Given the description of an element on the screen output the (x, y) to click on. 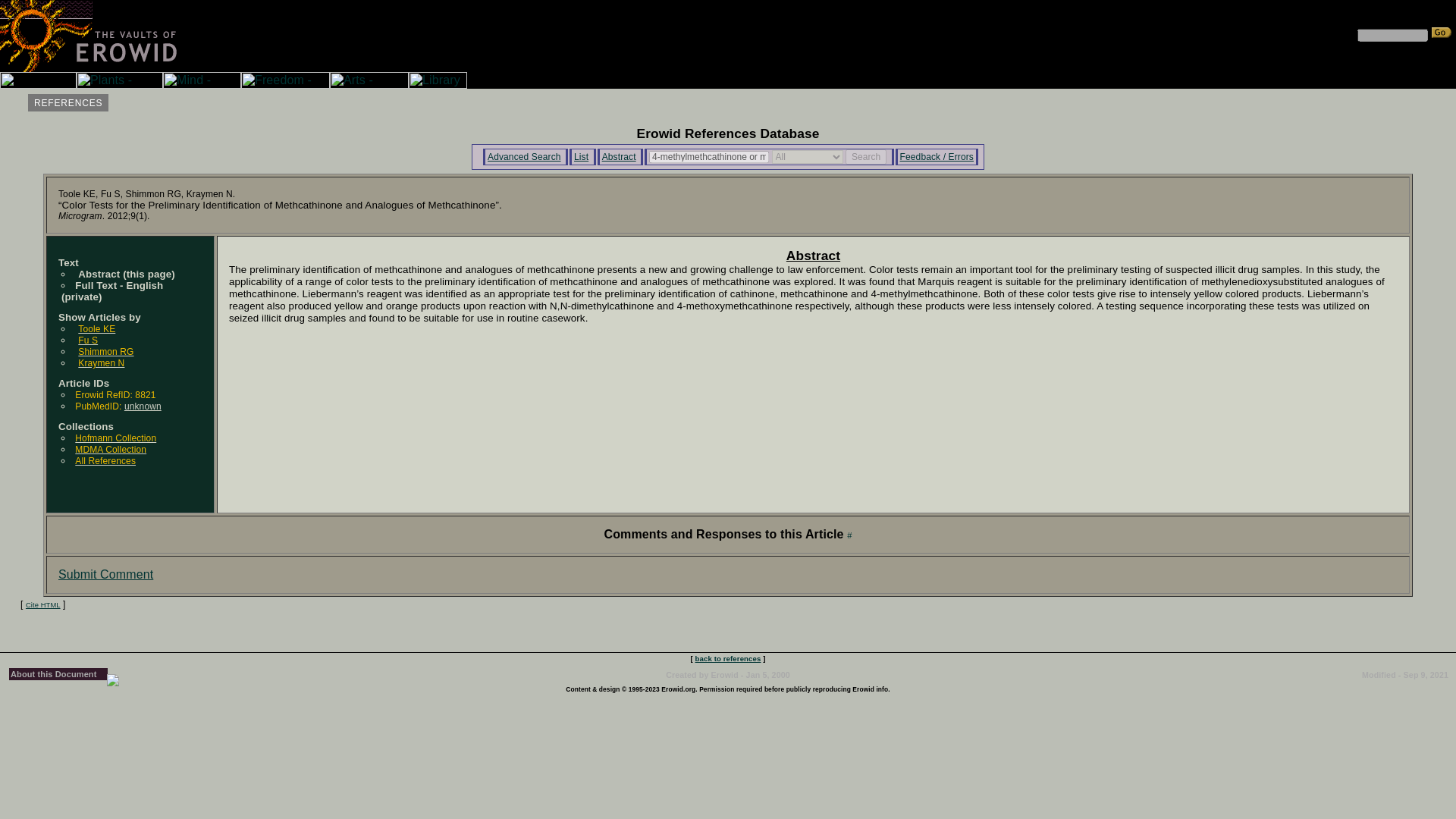
4-methylmethcathinone or mephedrone (708, 156)
Search (865, 156)
Search (865, 156)
4-methylmethcathinone or mephedrone (708, 156)
